Given the description of an element on the screen output the (x, y) to click on. 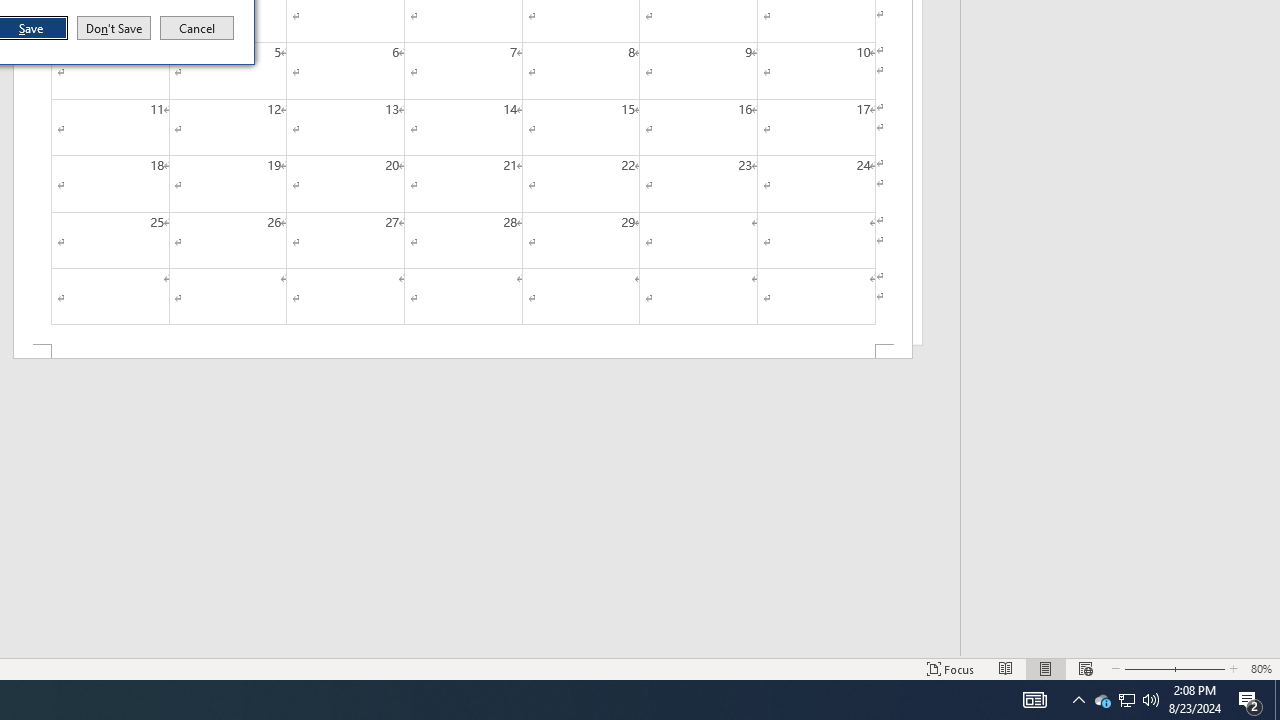
Show desktop (1277, 699)
User Promoted Notification Area (1126, 699)
Print Layout (1046, 668)
Don't Save (1102, 699)
Cancel (113, 27)
Focus  (197, 27)
Zoom Out (951, 668)
Footer -Section 2- (1126, 699)
